Given the description of an element on the screen output the (x, y) to click on. 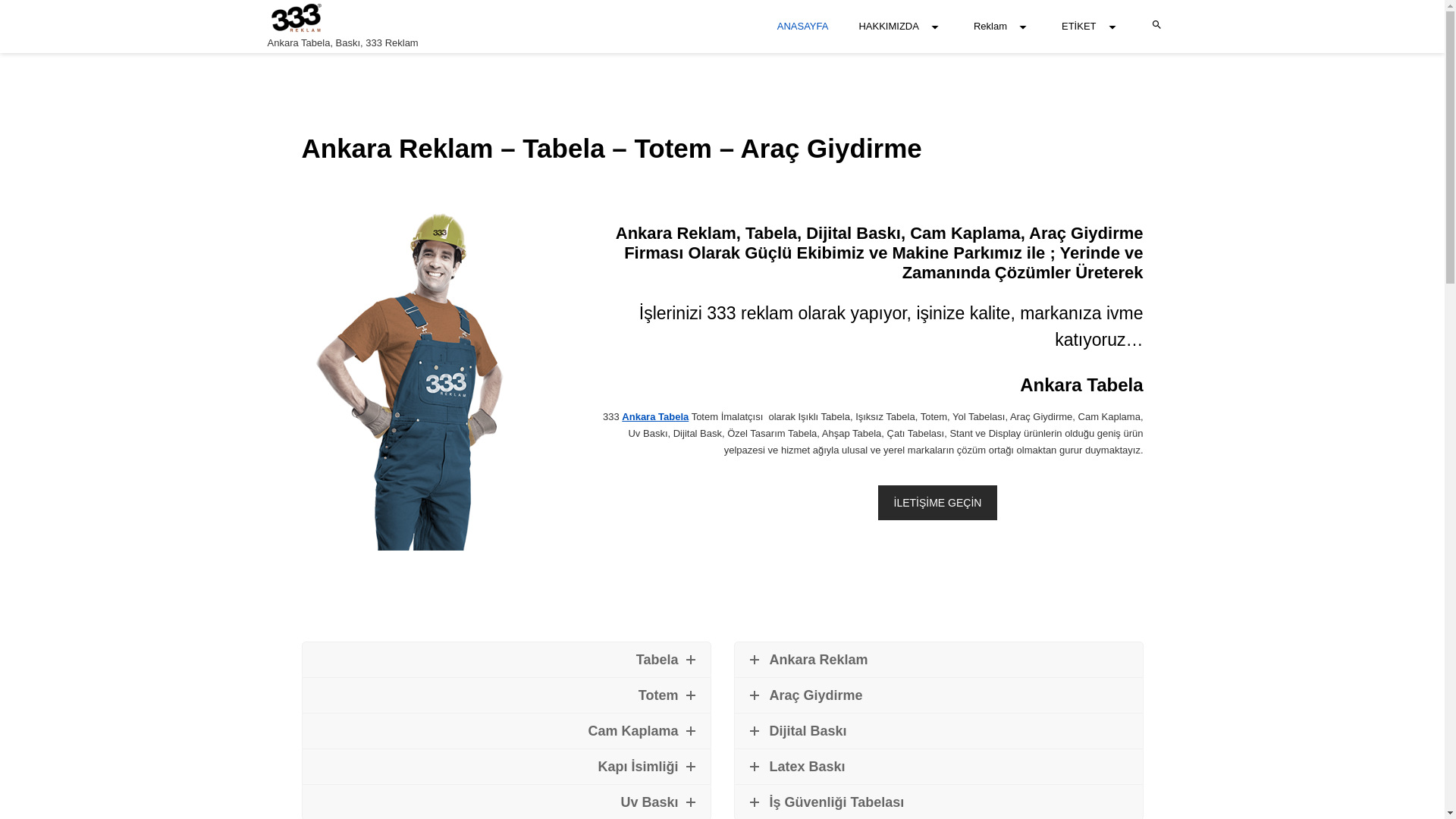
Reklam Element type: text (1002, 26)
Tabela Element type: text (505, 659)
Ankara Tabela Element type: text (654, 416)
Cam Kaplama Element type: text (505, 730)
Totem Element type: text (505, 694)
HAKKIMIZDA Element type: text (900, 26)
Search Element type: text (471, 283)
Ankara Reklam Element type: text (938, 659)
tabelaci Element type: hover (434, 377)
ANASAYFA Element type: text (803, 26)
